Given the description of an element on the screen output the (x, y) to click on. 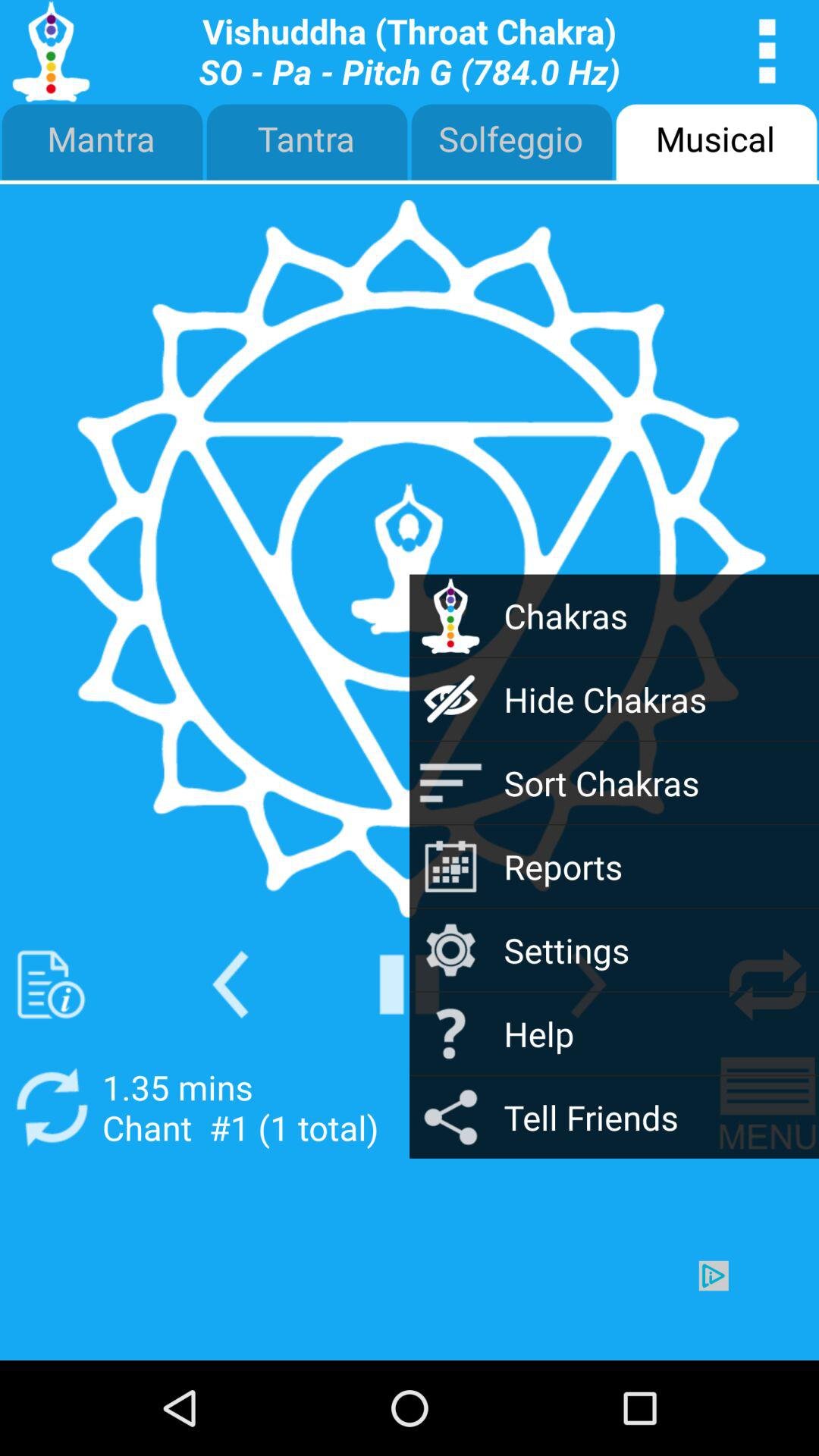
advertisement (409, 1310)
